Given the description of an element on the screen output the (x, y) to click on. 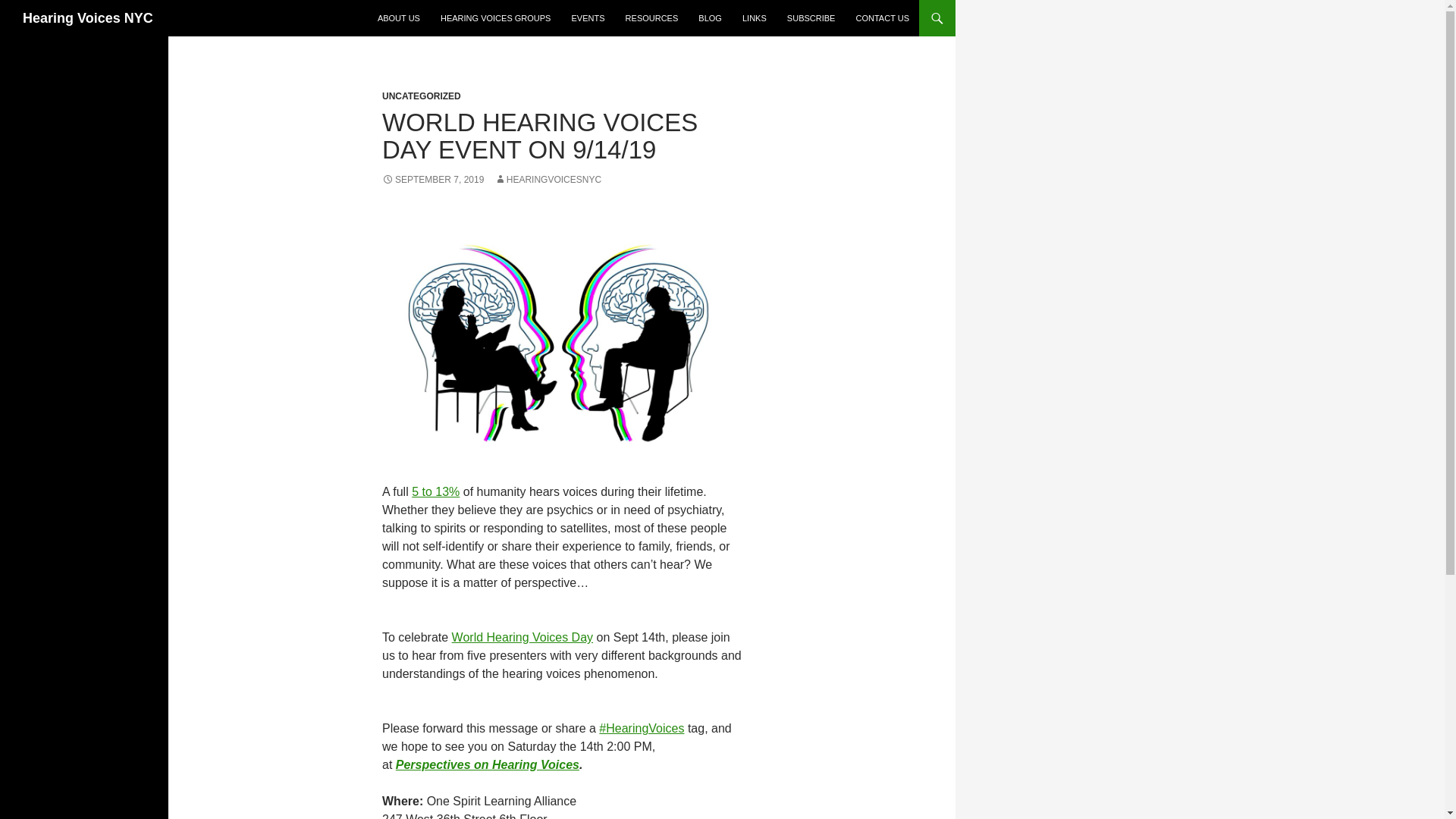
CONTACT US (881, 18)
EVENTS (588, 18)
SUBSCRIBE (810, 18)
Perspectives on Hearing Voices (487, 764)
RESOURCES (651, 18)
LINKS (754, 18)
BLOG (709, 18)
Hearing Voices NYC (87, 18)
HEARINGVOICESNYC (548, 179)
SEPTEMBER 7, 2019 (432, 179)
UNCATEGORIZED (421, 95)
ABOUT US (398, 18)
HEARING VOICES GROUPS (494, 18)
World Hearing Voices Day (521, 636)
